Given the description of an element on the screen output the (x, y) to click on. 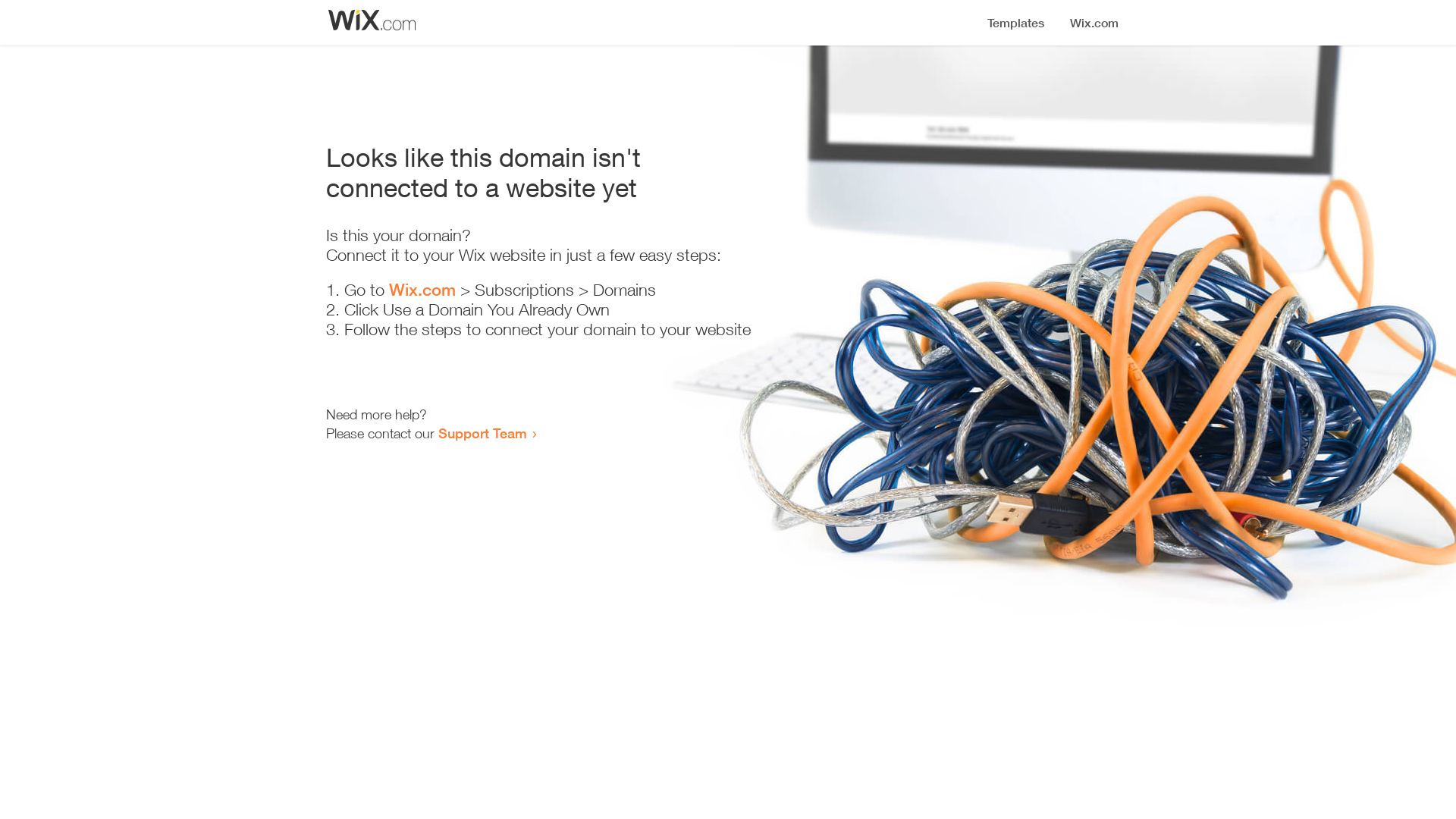
Wix.com Element type: text (422, 289)
Support Team Element type: text (482, 432)
